Given the description of an element on the screen output the (x, y) to click on. 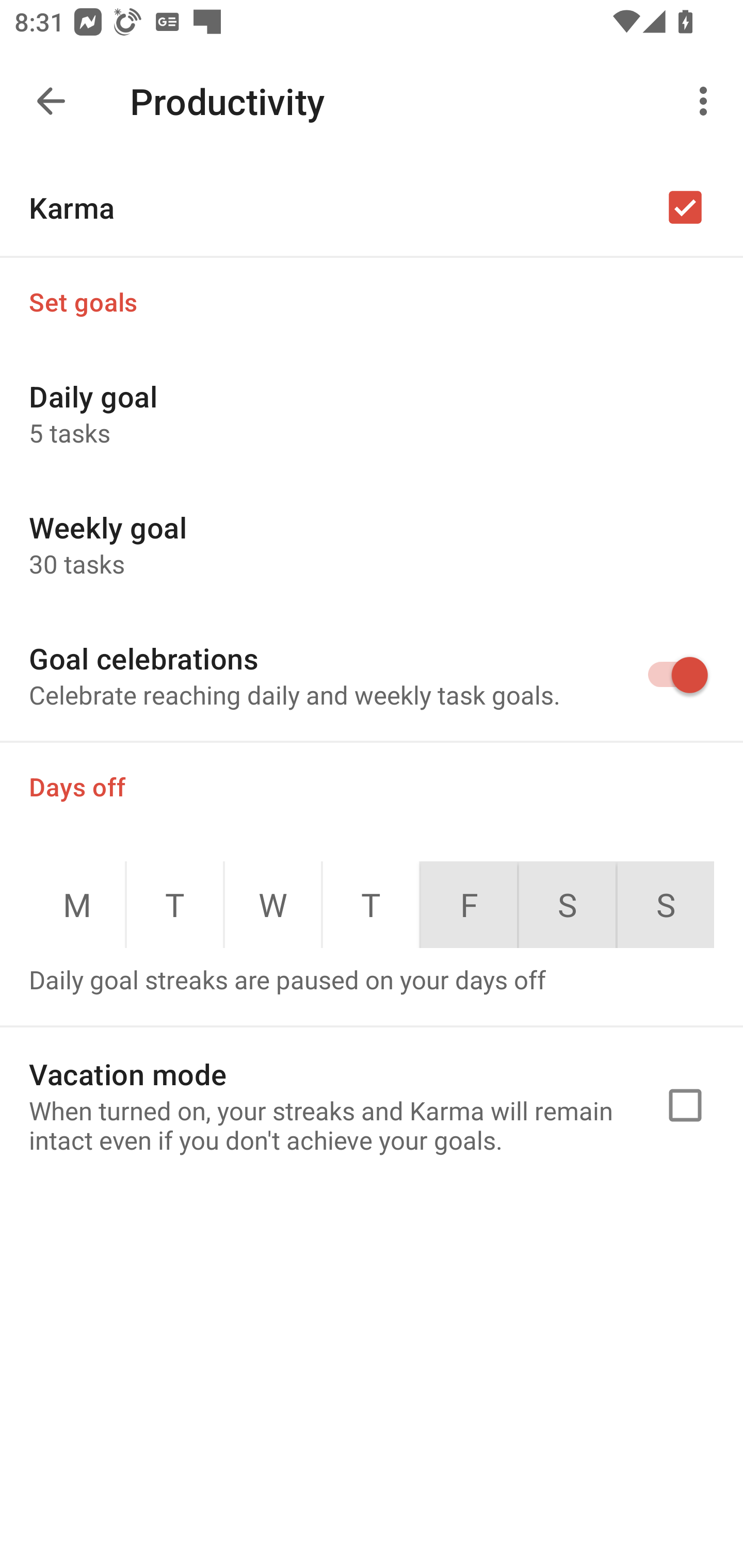
Navigate up (50, 101)
More options (706, 101)
Karma (371, 206)
Daily goal 5 tasks (371, 413)
Weekly goal 30 tasks (371, 543)
M (76, 904)
T (174, 904)
W (272, 904)
T (371, 904)
F (469, 904)
S (567, 904)
S (665, 904)
